Given the description of an element on the screen output the (x, y) to click on. 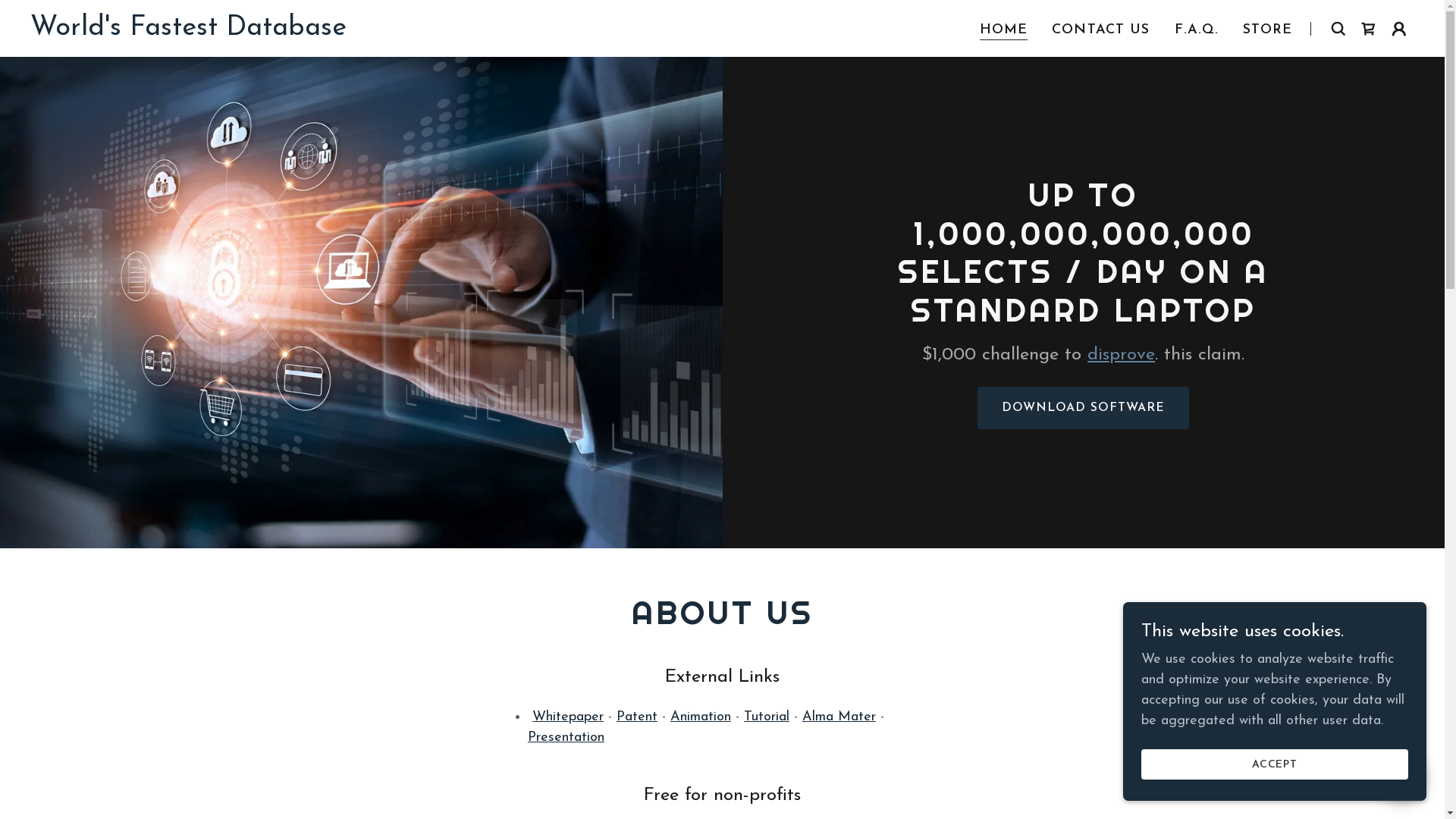
CONTACT US Element type: text (1100, 29)
DOWNLOAD SOFTWARE Element type: text (1083, 407)
Whitepaper Element type: text (567, 716)
ACCEPT Element type: text (1274, 764)
F.A.Q. Element type: text (1196, 29)
Animation Element type: text (700, 716)
Alma Mater Element type: text (838, 716)
Tutorial Element type: text (766, 716)
World's Fastest Database Element type: text (188, 31)
Patent Element type: text (636, 716)
Presentation Element type: text (565, 737)
STORE Element type: text (1267, 29)
HOME Element type: text (1003, 30)
disprove Element type: text (1120, 354)
